Given the description of an element on the screen output the (x, y) to click on. 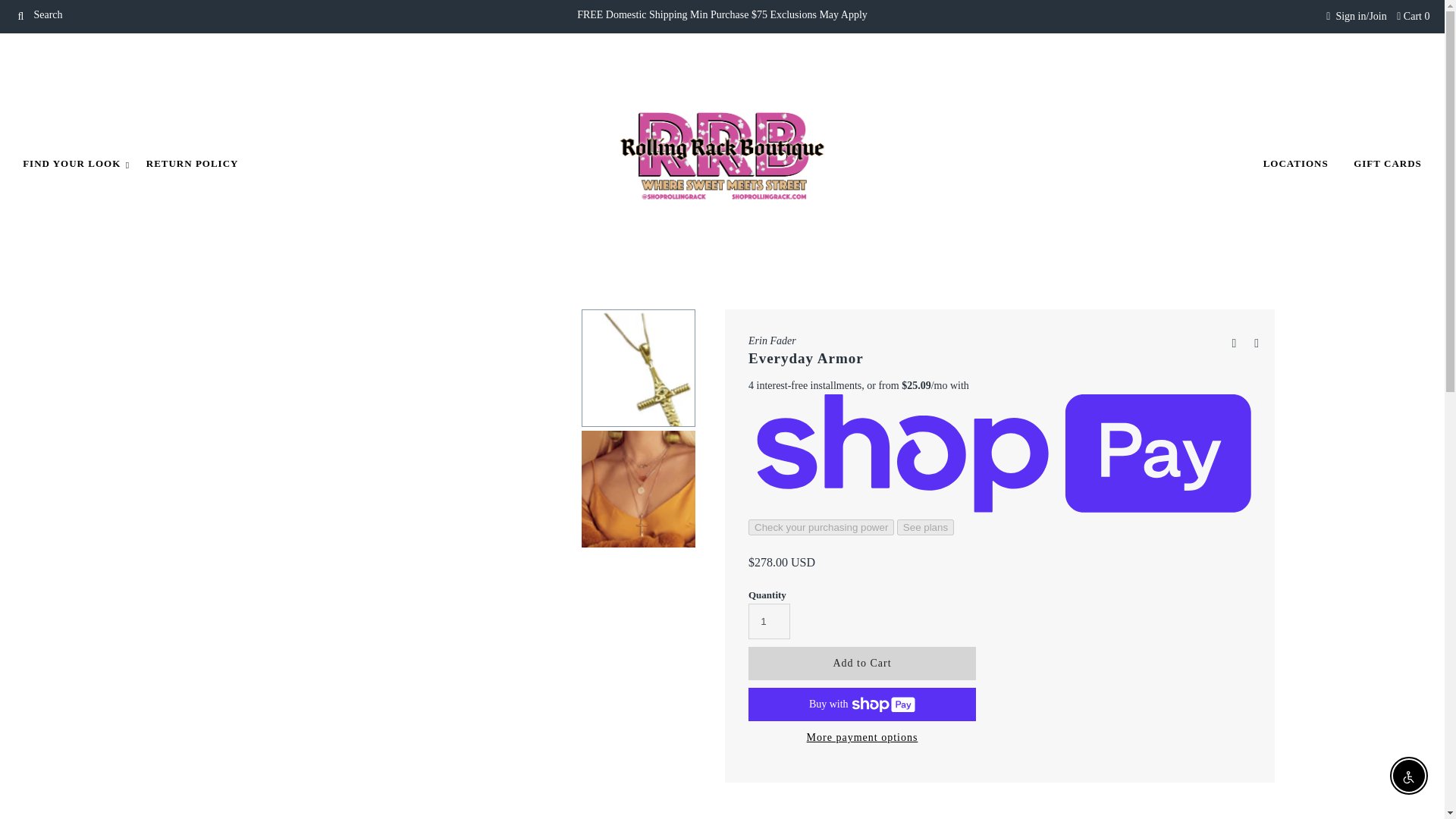
Add to Cart (861, 663)
 Cart 0 (1412, 16)
LOCATIONS (1295, 163)
GIFT CARDS (1387, 163)
RETURN POLICY (192, 163)
1 (769, 621)
FIND YOUR LOOK (71, 163)
Add to Cart (861, 663)
